Given the description of an element on the screen output the (x, y) to click on. 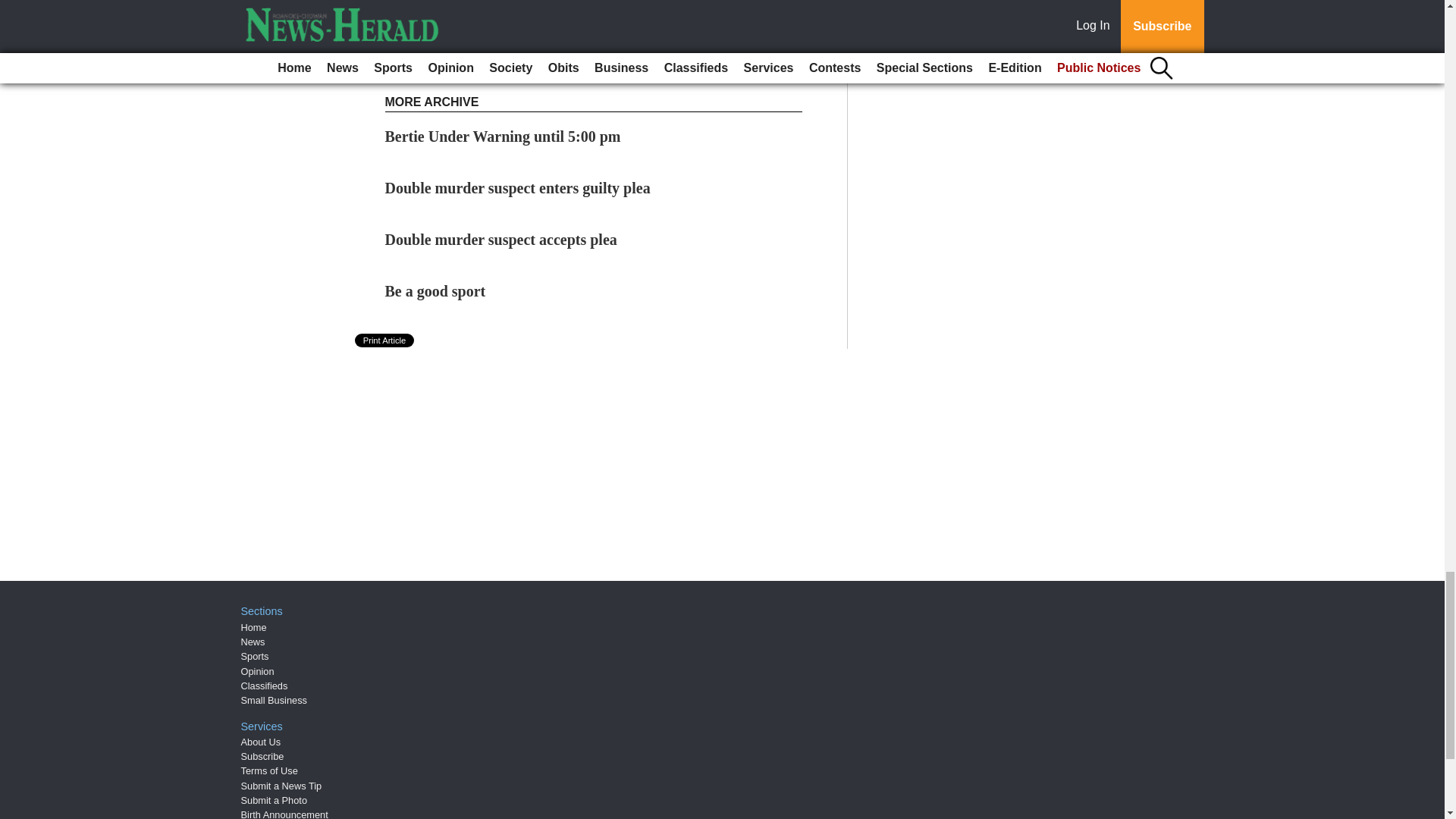
Be a good sport (435, 290)
Double murder suspect accepts plea (501, 239)
Print Article (384, 340)
Double murder suspect enters guilty plea (517, 187)
Be a good sport (435, 290)
Double murder suspect enters guilty plea (517, 187)
Bertie Under Warning until 5:00 pm (503, 135)
Bertie Under Warning until 5:00 pm (503, 135)
Double murder suspect accepts plea (501, 239)
